Given the description of an element on the screen output the (x, y) to click on. 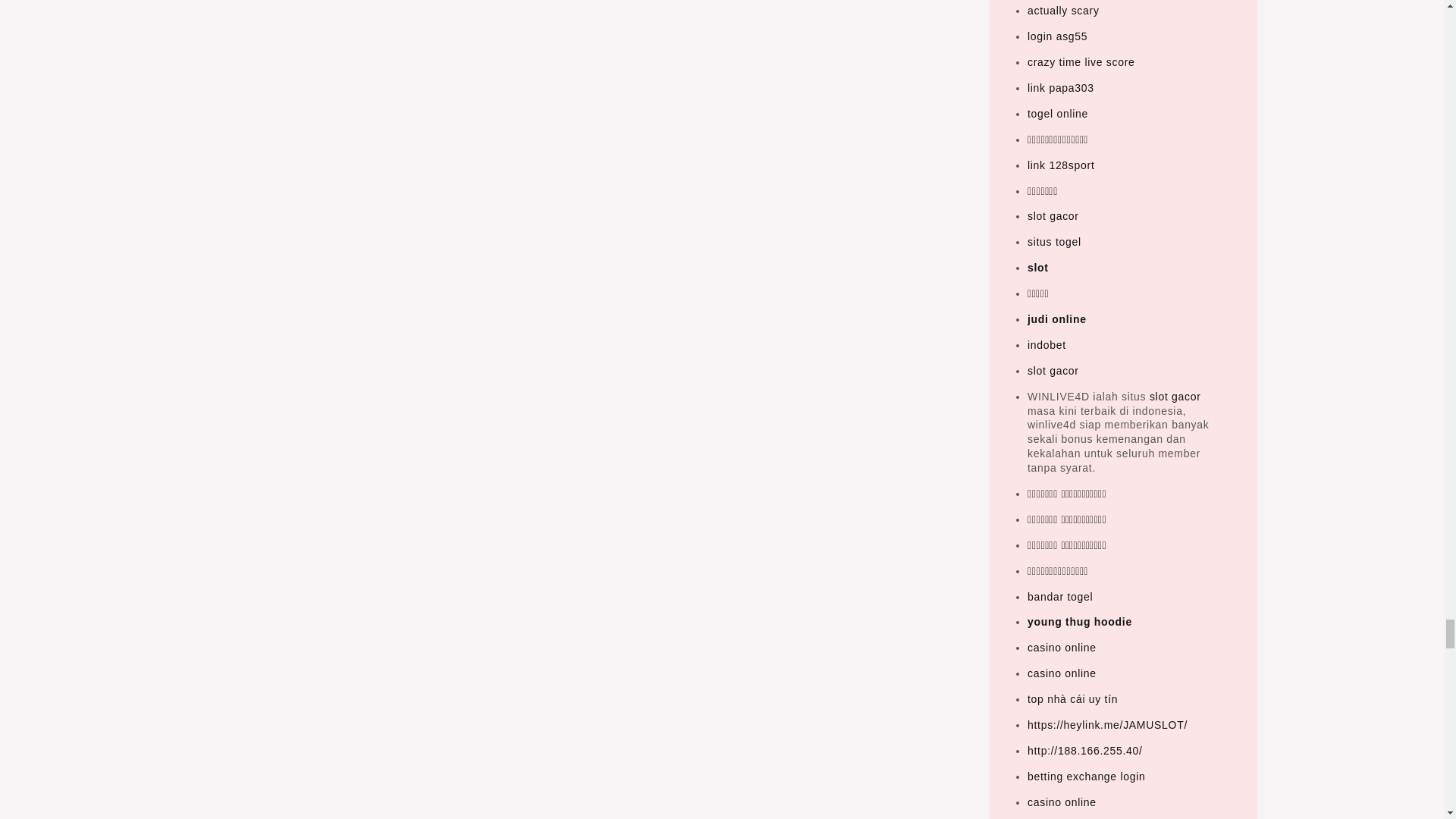
slot gacor (1175, 396)
